Given the description of an element on the screen output the (x, y) to click on. 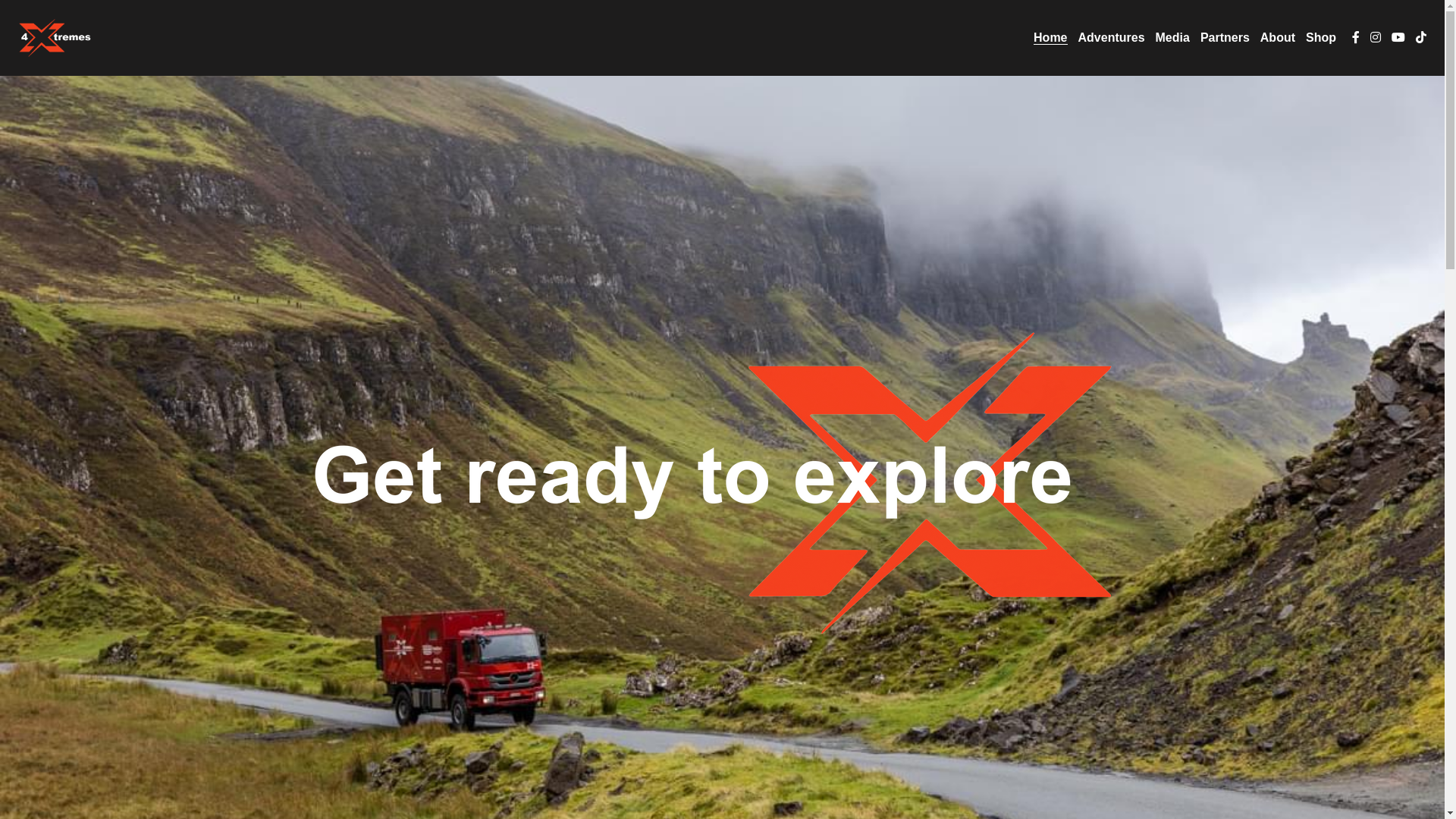
Adventures Element type: text (1111, 37)
Shop Element type: text (1320, 37)
Home Element type: text (1049, 37)
Media Element type: text (1172, 37)
About Element type: text (1277, 37)
Partners Element type: text (1224, 37)
4-xtremes overland expedition Element type: hover (54, 37)
